Given the description of an element on the screen output the (x, y) to click on. 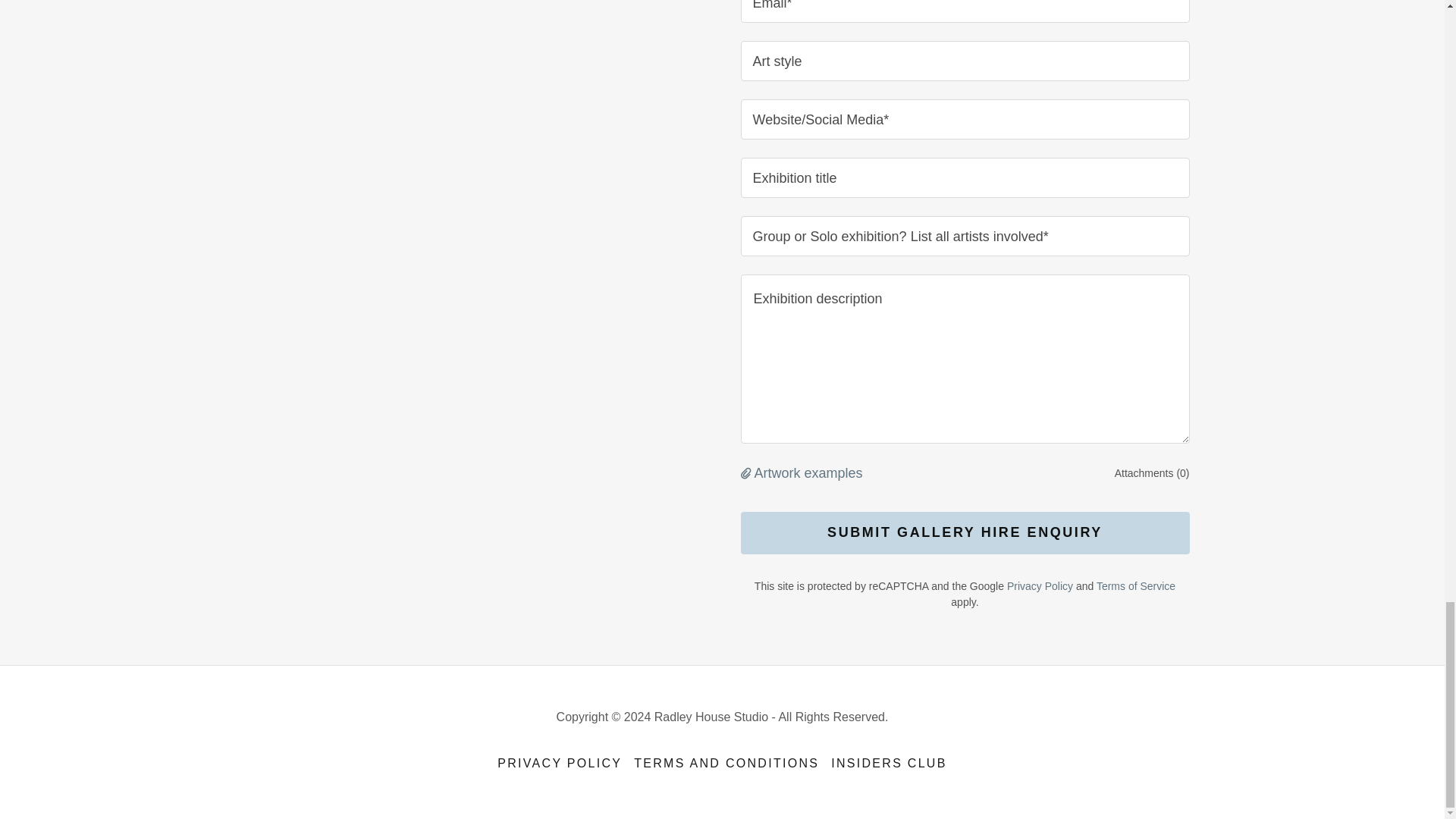
Privacy Policy (1040, 585)
INSIDERS CLUB (888, 763)
PRIVACY POLICY (559, 763)
TERMS AND CONDITIONS (726, 763)
Terms of Service (1135, 585)
SUBMIT GALLERY HIRE ENQUIRY (964, 532)
